Given the description of an element on the screen output the (x, y) to click on. 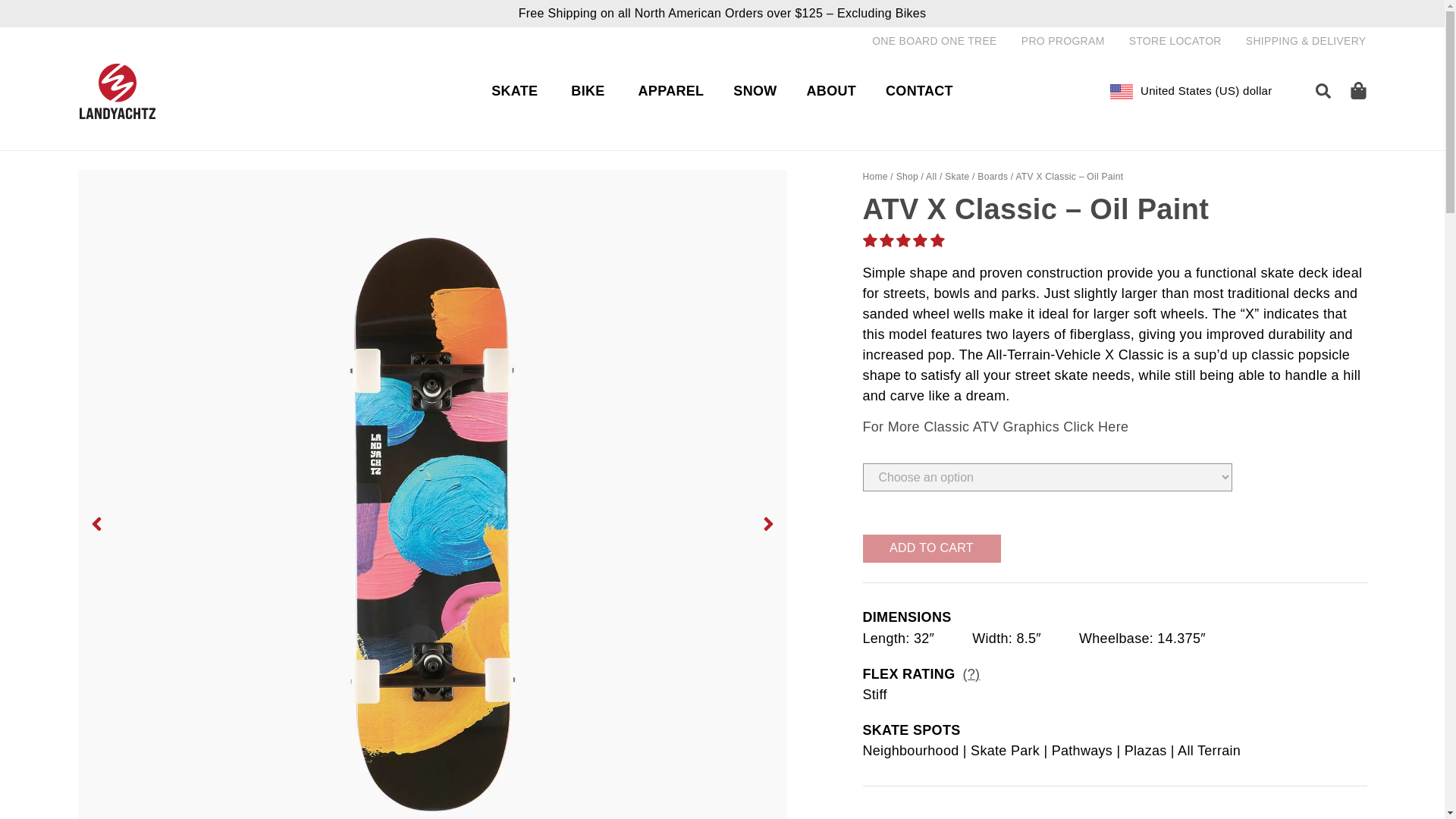
PRO PROGRAM (1063, 41)
ONE BOARD ONE TREE (934, 41)
STORE LOCATOR (1175, 41)
SKATE (514, 91)
